Given the description of an element on the screen output the (x, y) to click on. 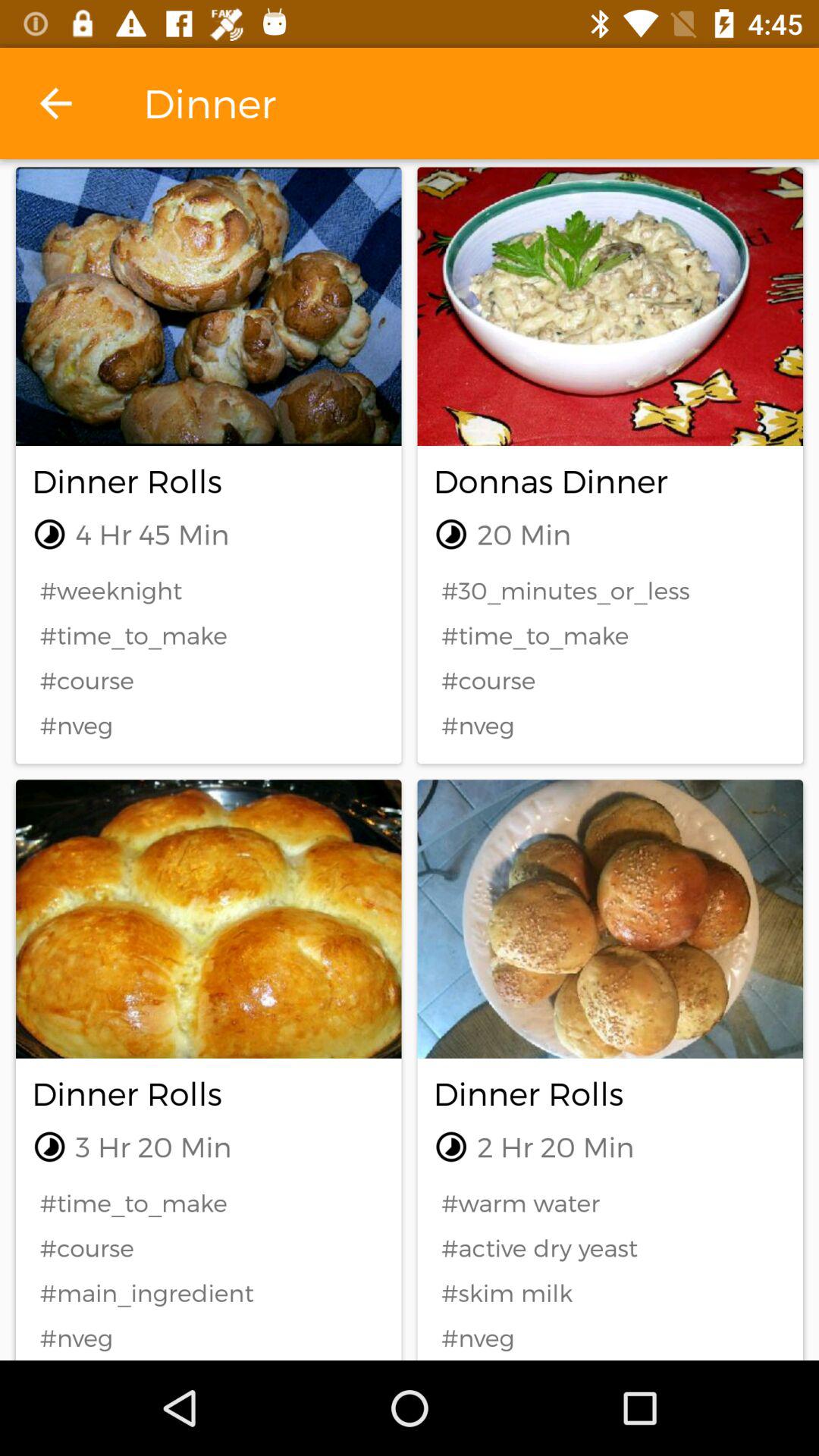
scroll to the #30_minutes_or_less icon (610, 590)
